Given the description of an element on the screen output the (x, y) to click on. 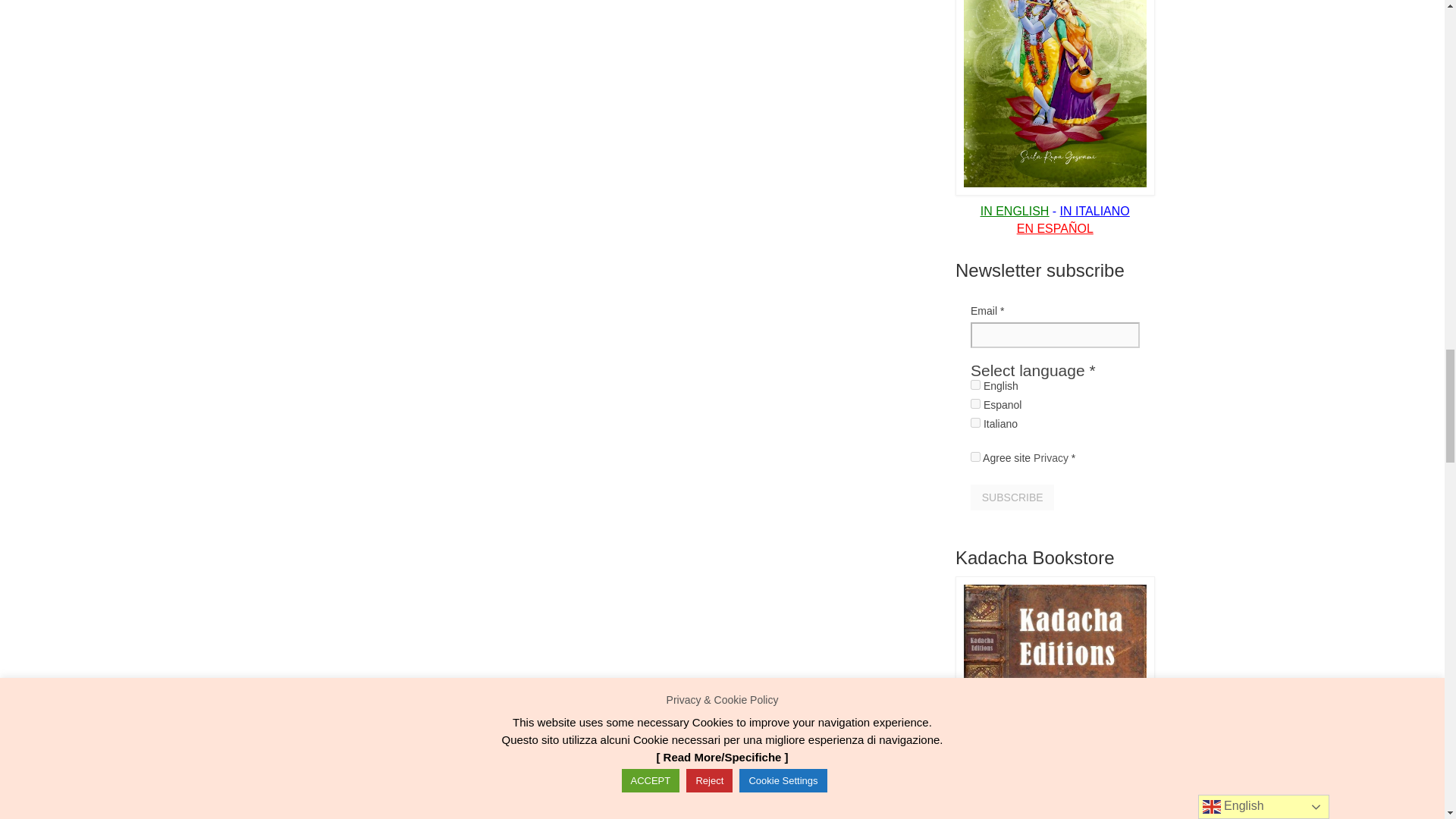
6 (975, 422)
1 (975, 456)
3 (975, 384)
4 (975, 403)
